Given the description of an element on the screen output the (x, y) to click on. 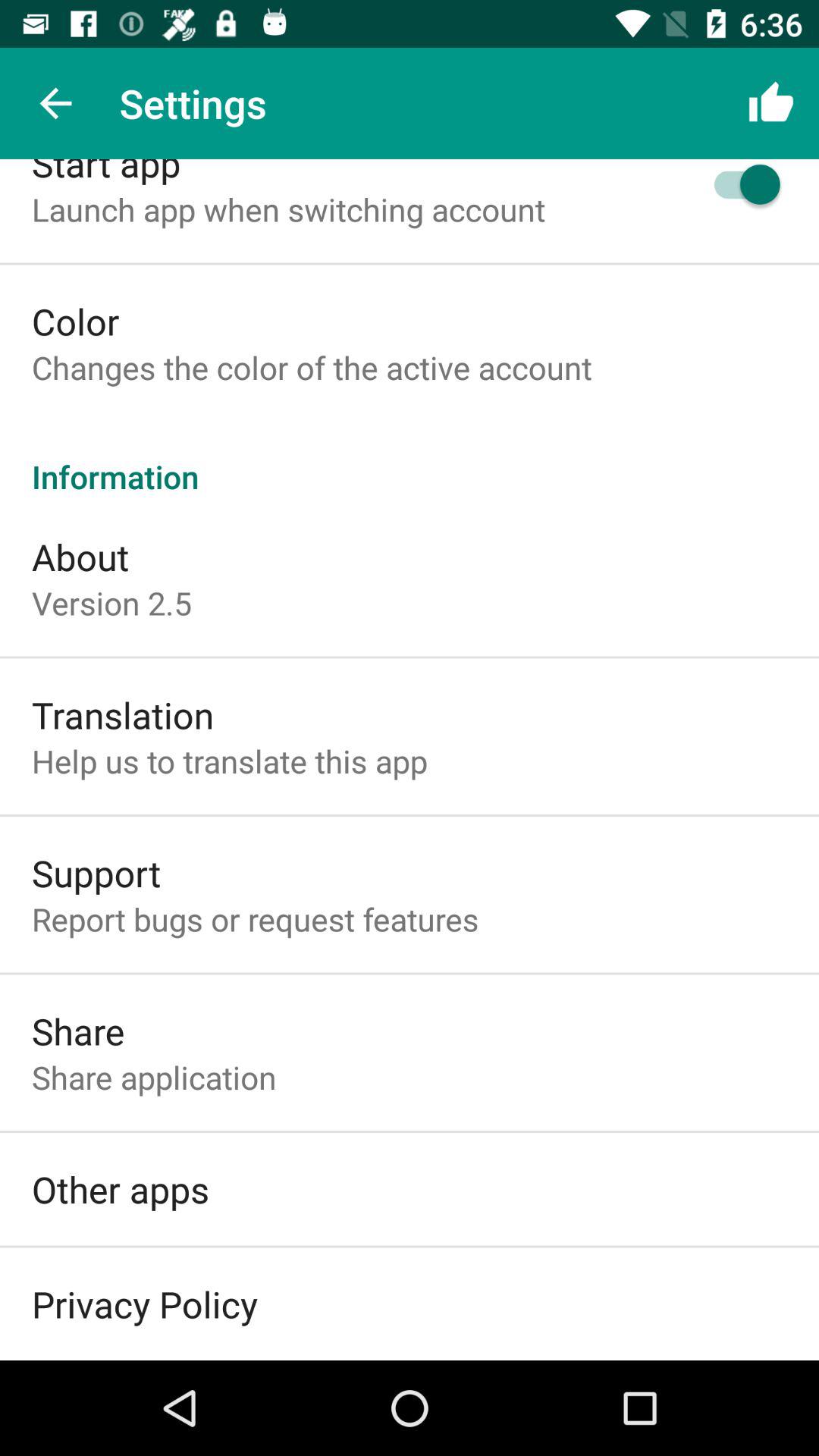
turn off the icon below translation item (229, 760)
